Given the description of an element on the screen output the (x, y) to click on. 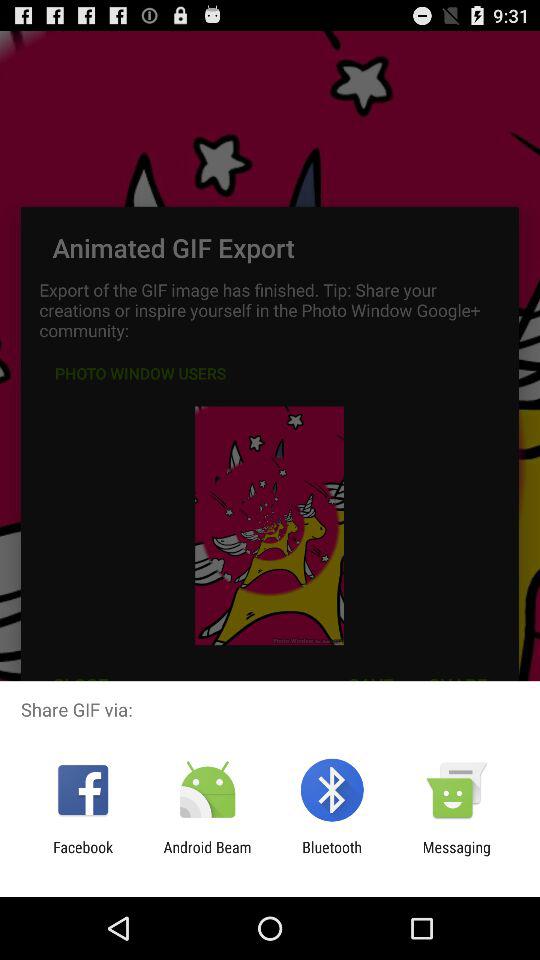
open item next to the bluetooth (207, 856)
